Given the description of an element on the screen output the (x, y) to click on. 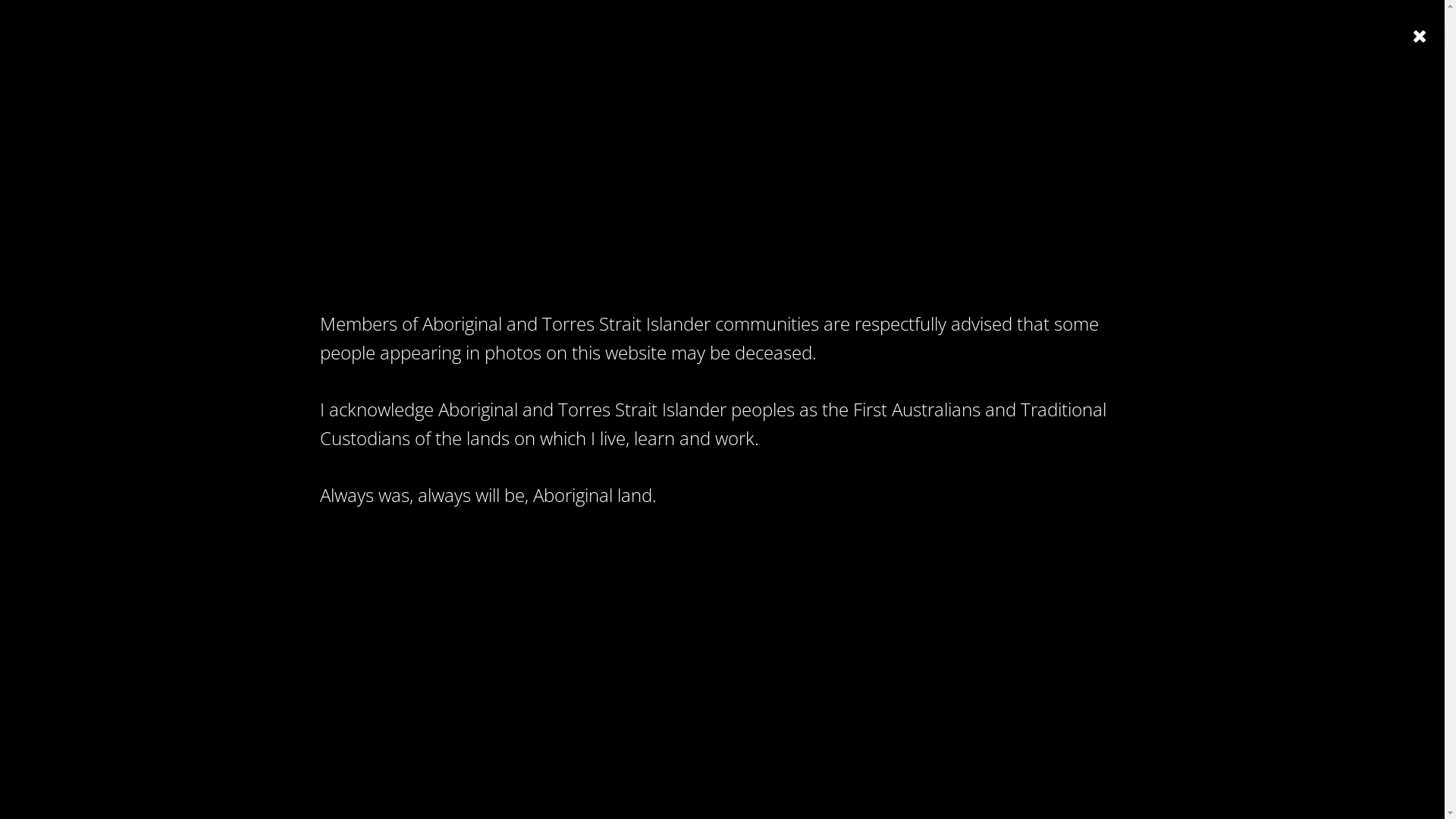
MENU Element type: text (1402, 48)
instagram Element type: text (727, 709)
